Given the description of an element on the screen output the (x, y) to click on. 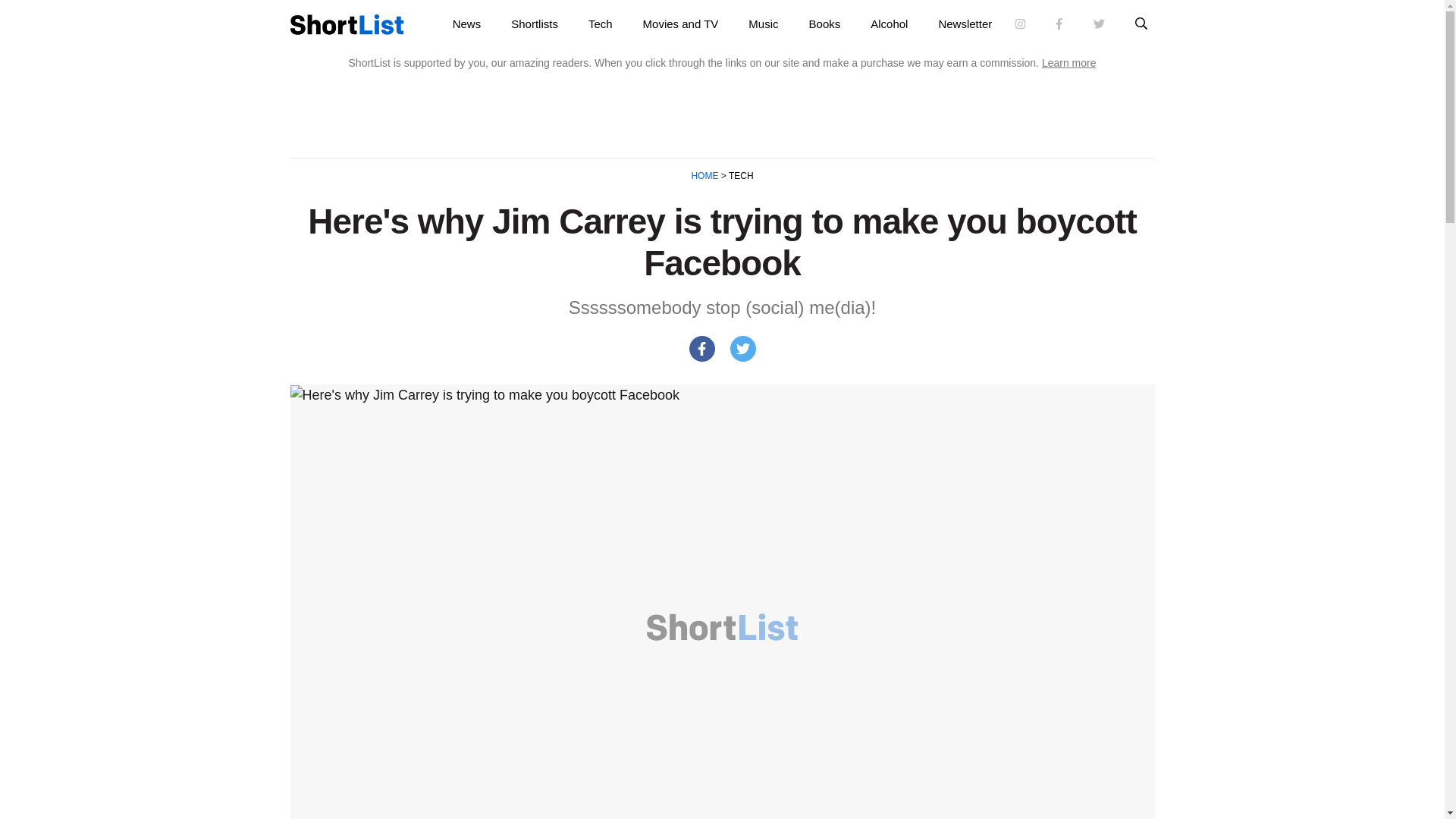
Visit :sitename on Twitter (1098, 24)
Visit :sitename on Faceboook (1059, 24)
News (467, 23)
TECH (740, 175)
Shortlist (346, 24)
Alcohol (889, 23)
Tech (600, 23)
Newsletter (965, 23)
Twitter (742, 348)
Shortlists (534, 23)
Movies and TV (680, 23)
Facebook (701, 348)
Music (763, 23)
Learn more (1069, 62)
Visit :sitename on Instagram (1020, 24)
